Given the description of an element on the screen output the (x, y) to click on. 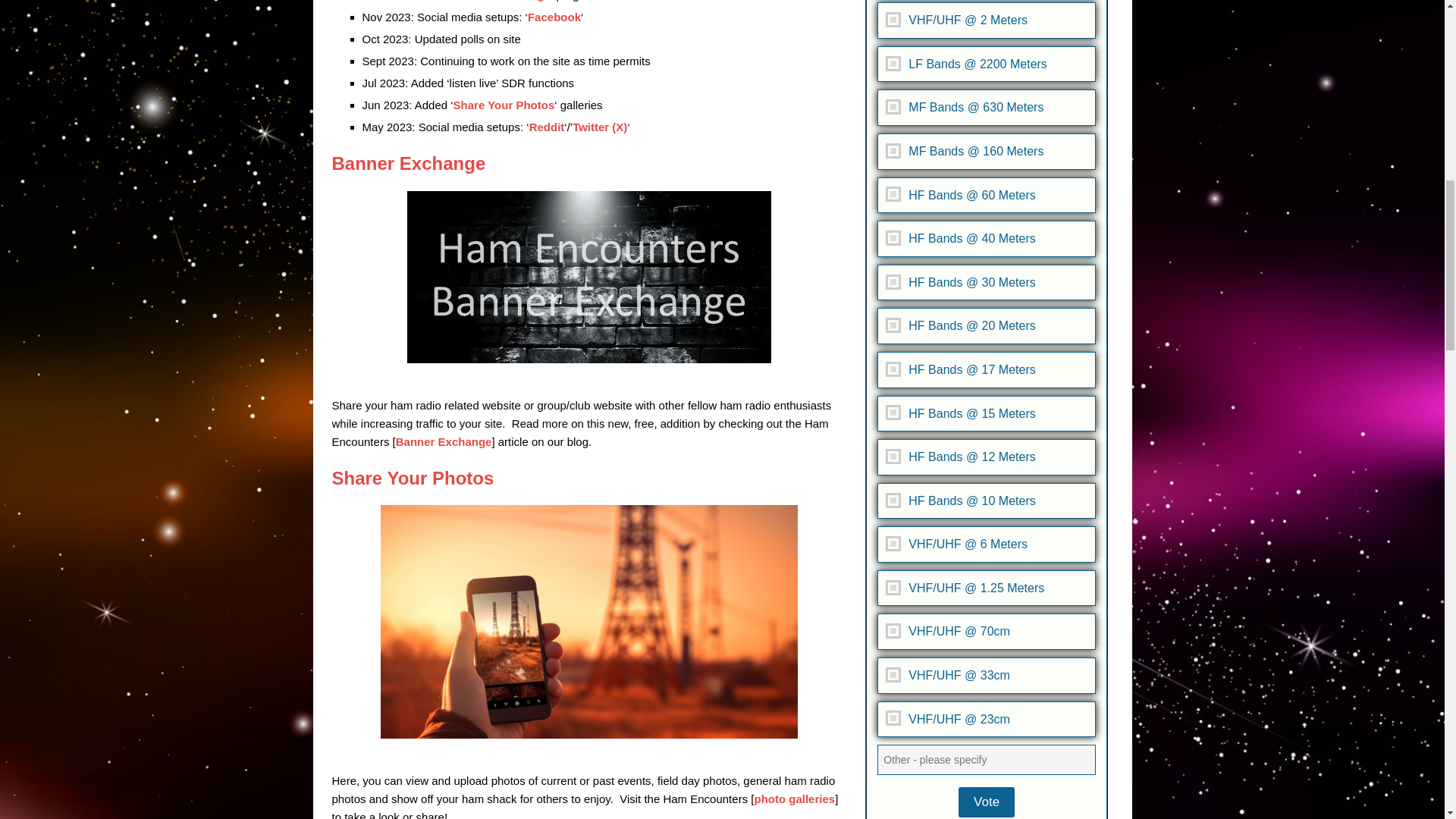
Vote (986, 802)
